Given the description of an element on the screen output the (x, y) to click on. 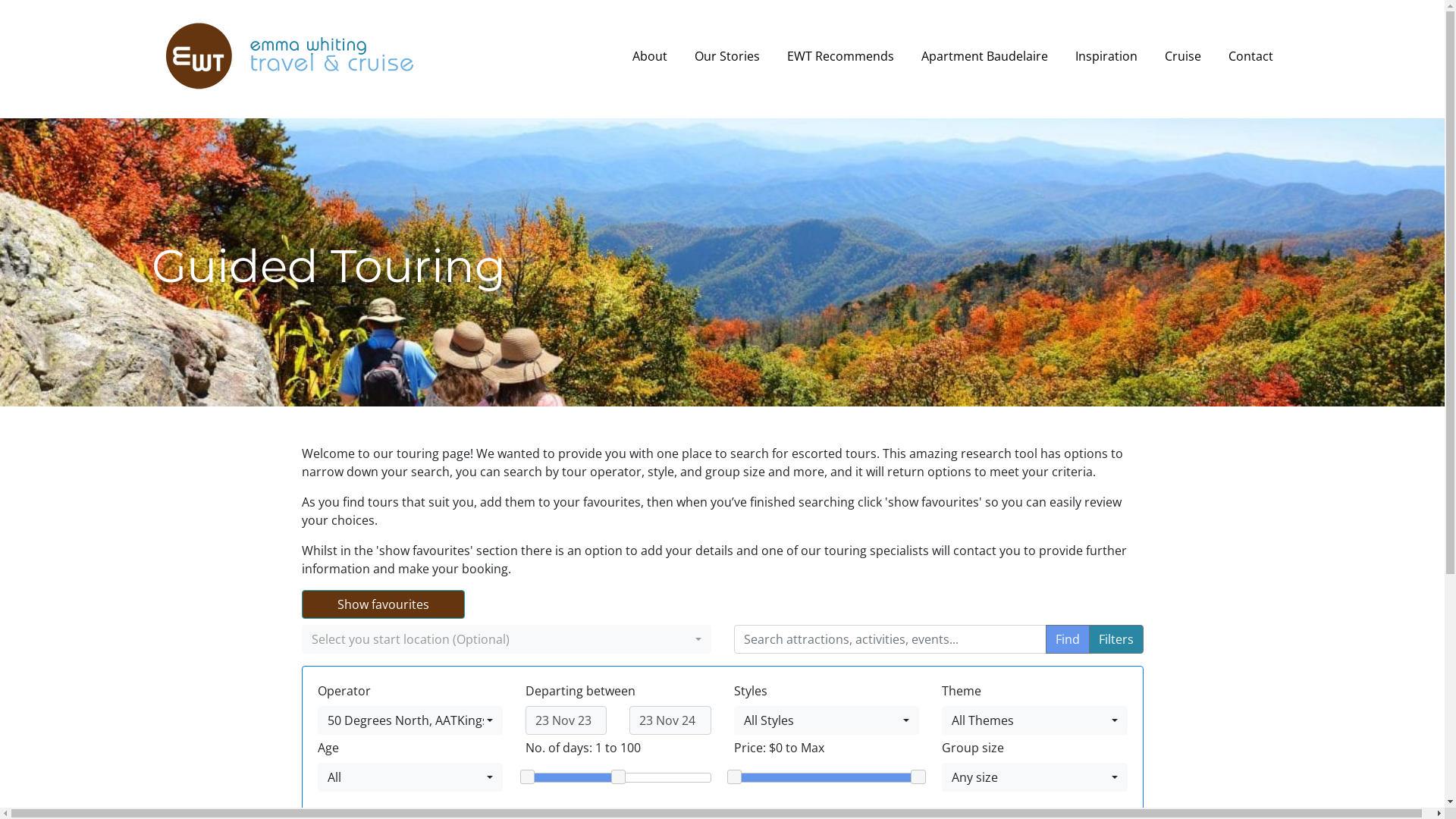
EWT Recommends Element type: text (840, 55)
End Date Element type: hover (669, 720)
Find Element type: text (1066, 638)
Contact Element type: text (1250, 55)
Filters Element type: text (1115, 638)
Cruise Element type: text (1182, 55)
Start Date Element type: hover (565, 720)
About Element type: text (649, 55)
Apartment Baudelaire Element type: text (983, 55)
Inspiration Element type: text (1106, 55)
Show favourites Element type: text (382, 603)
All Themes Element type: text (1034, 720)
Select you start location (Optional) Element type: text (506, 638)
All Styles Element type: text (826, 720)
Our Stories Element type: text (726, 55)
All Element type: text (409, 776)
Any size Element type: text (1034, 776)
